Given the description of an element on the screen output the (x, y) to click on. 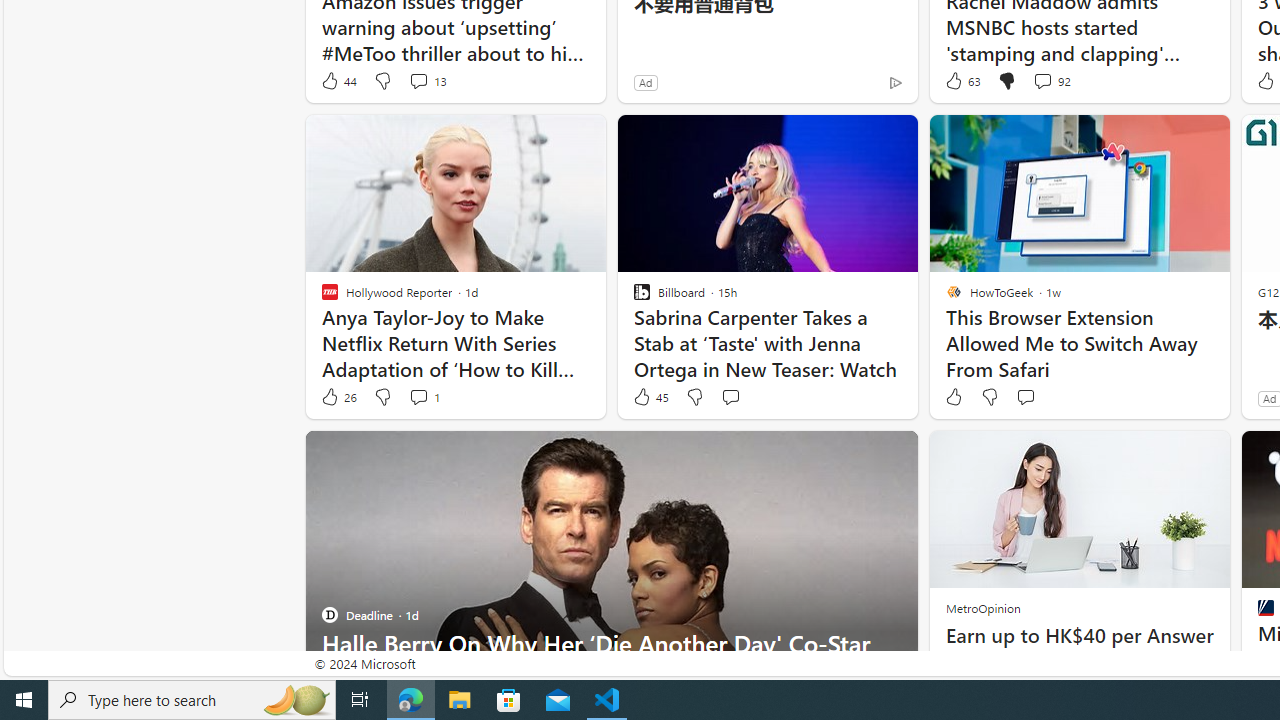
View comments 13 Comment (426, 80)
63 Like (961, 80)
26 Like (337, 397)
Start the conversation (1025, 396)
Ad Choice (895, 82)
See more (893, 454)
